Given the description of an element on the screen output the (x, y) to click on. 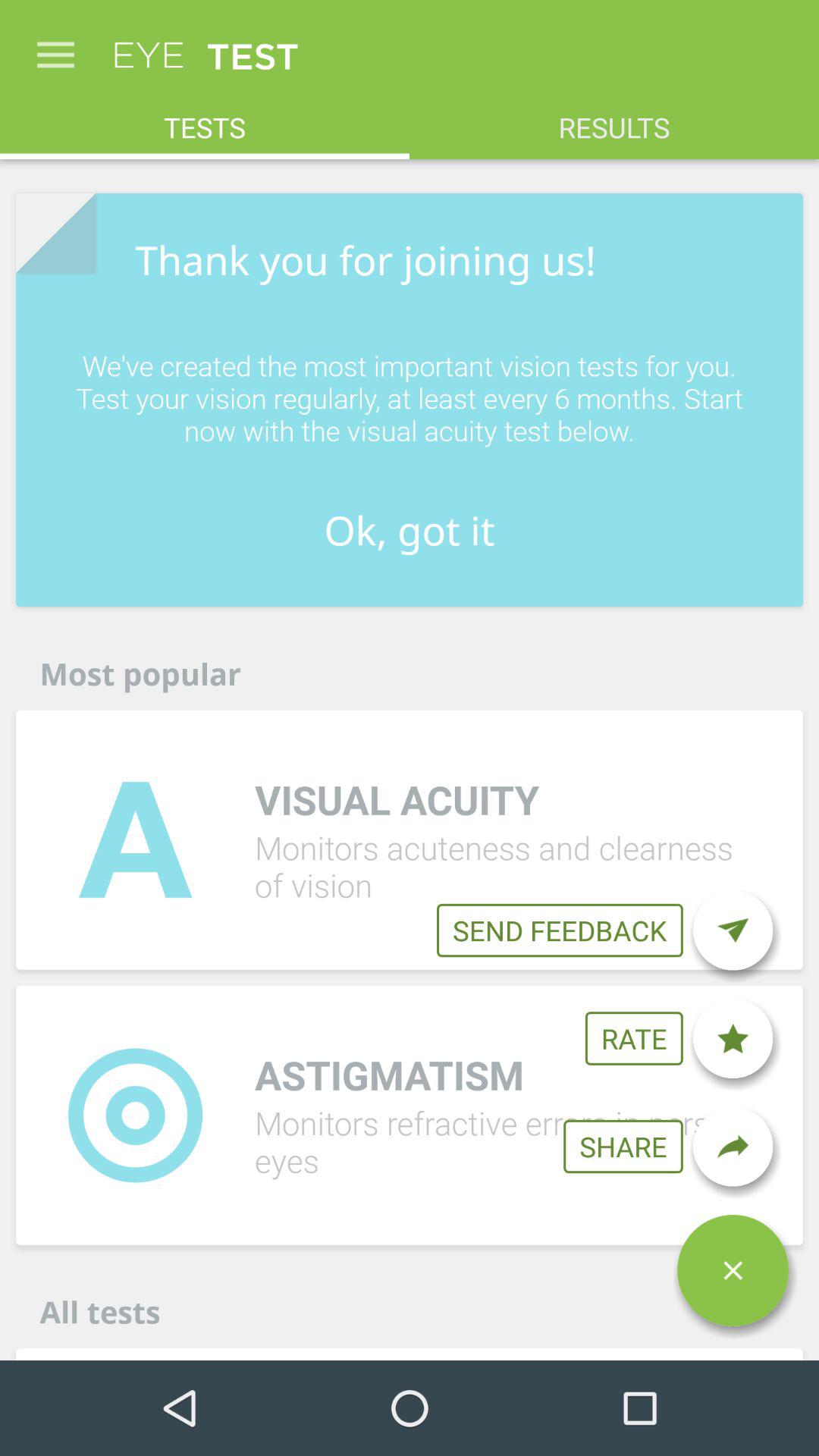
turn on item to the right of the tests icon (614, 119)
